Given the description of an element on the screen output the (x, y) to click on. 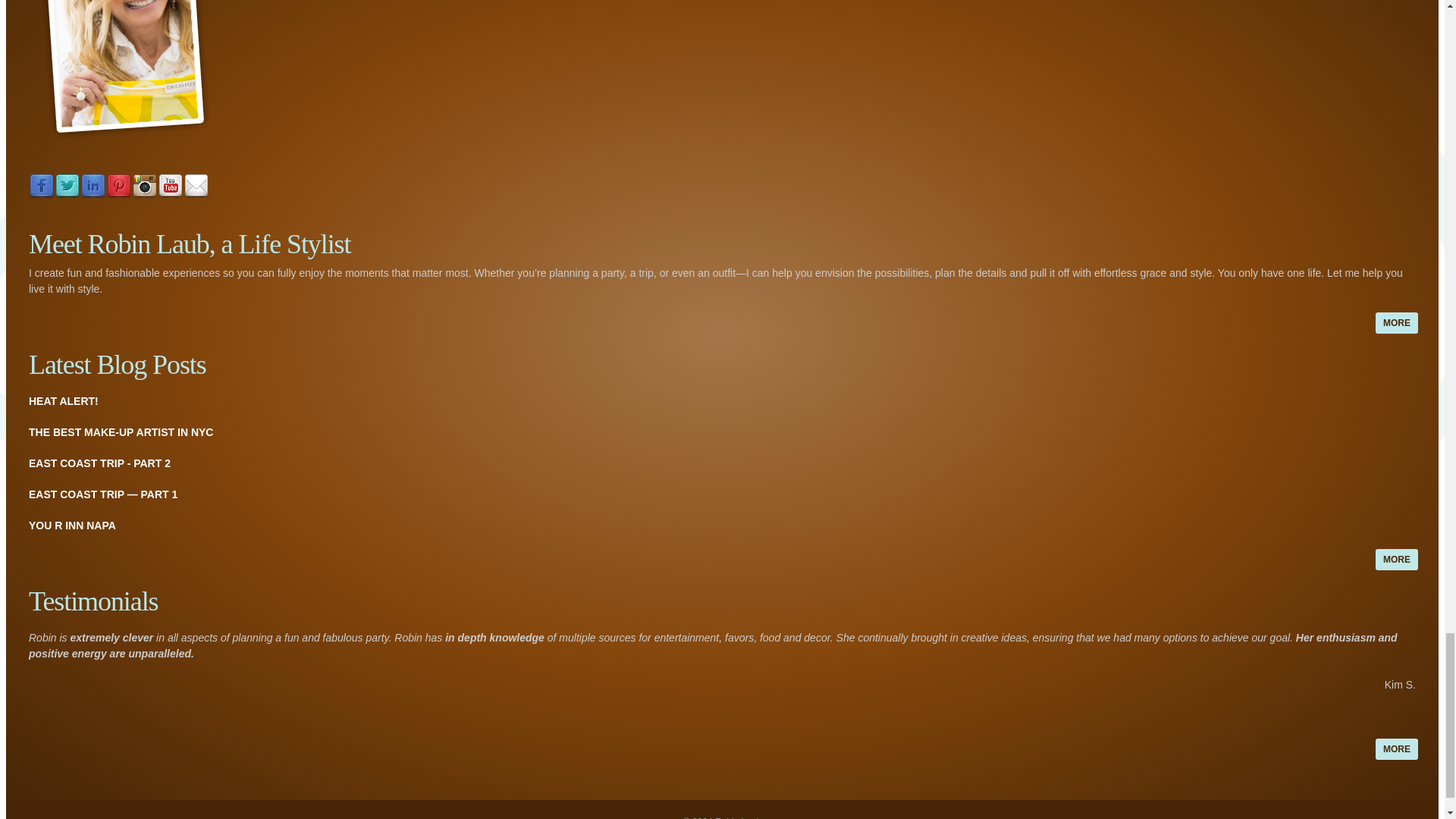
Facebook (41, 186)
Contact (196, 186)
LinkedIn (92, 186)
Pinterest (118, 186)
Instagram (144, 186)
Twitter (67, 186)
